Given the description of an element on the screen output the (x, y) to click on. 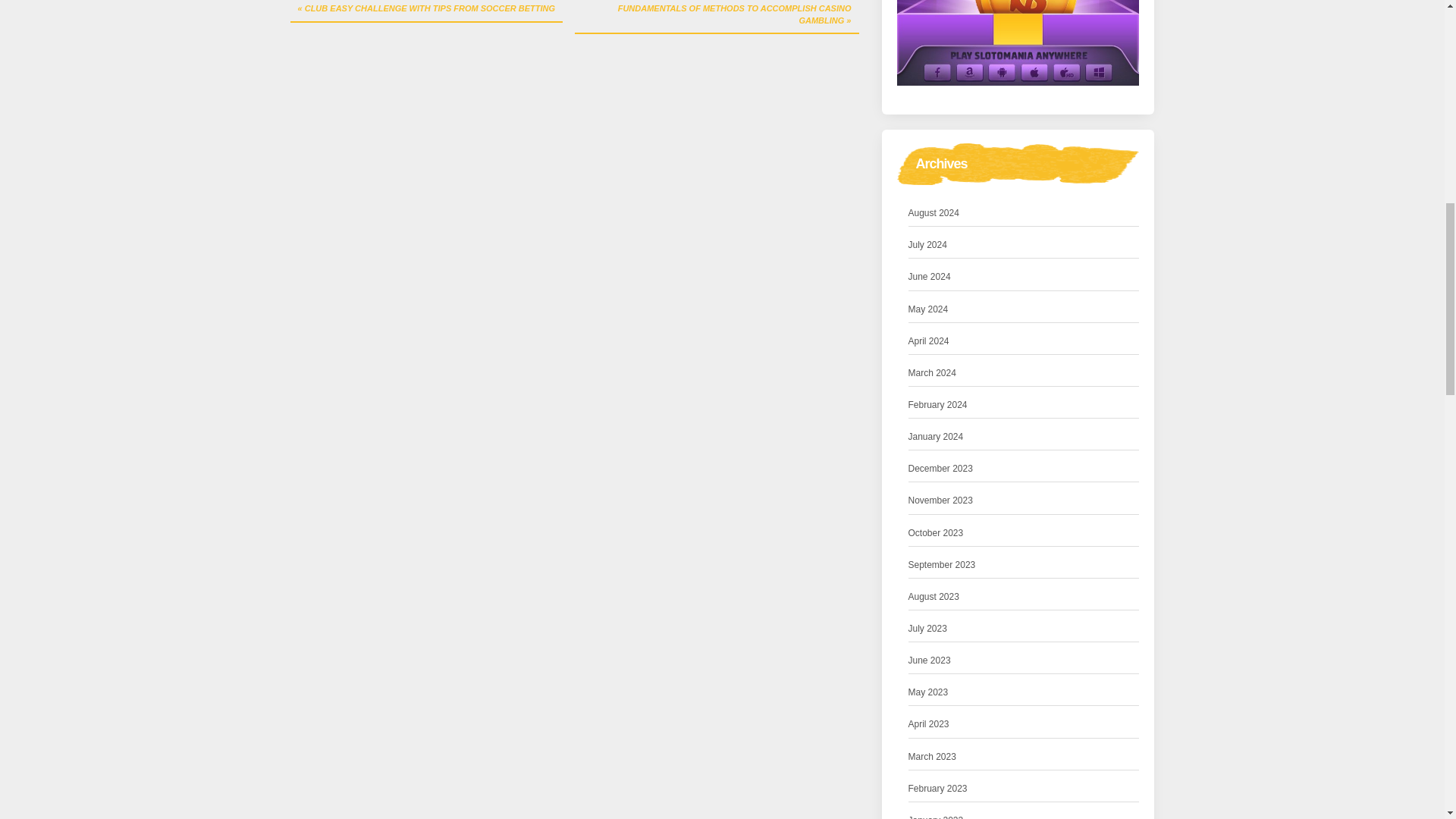
February 2024 (938, 405)
October 2023 (935, 533)
July 2024 (927, 245)
March 2023 (932, 756)
May 2023 (928, 692)
April 2023 (928, 724)
April 2024 (928, 341)
FUNDAMENTALS OF METHODS TO ACCOMPLISH CASINO GAMBLING (717, 17)
May 2024 (928, 309)
February 2023 (938, 788)
